Given the description of an element on the screen output the (x, y) to click on. 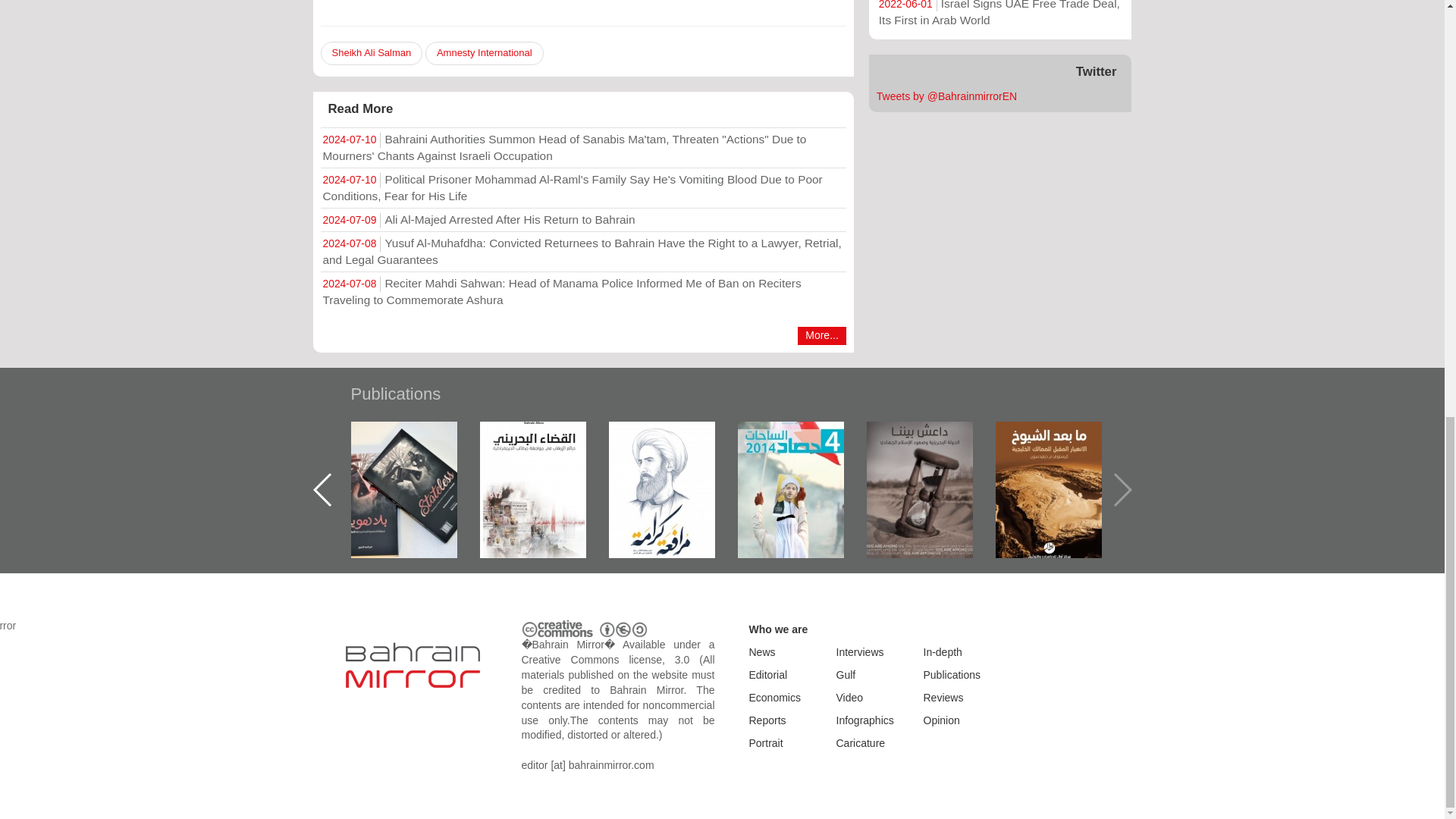
Amnesty International (484, 53)
Sheikh Ali Salman (371, 53)
